Given the description of an element on the screen output the (x, y) to click on. 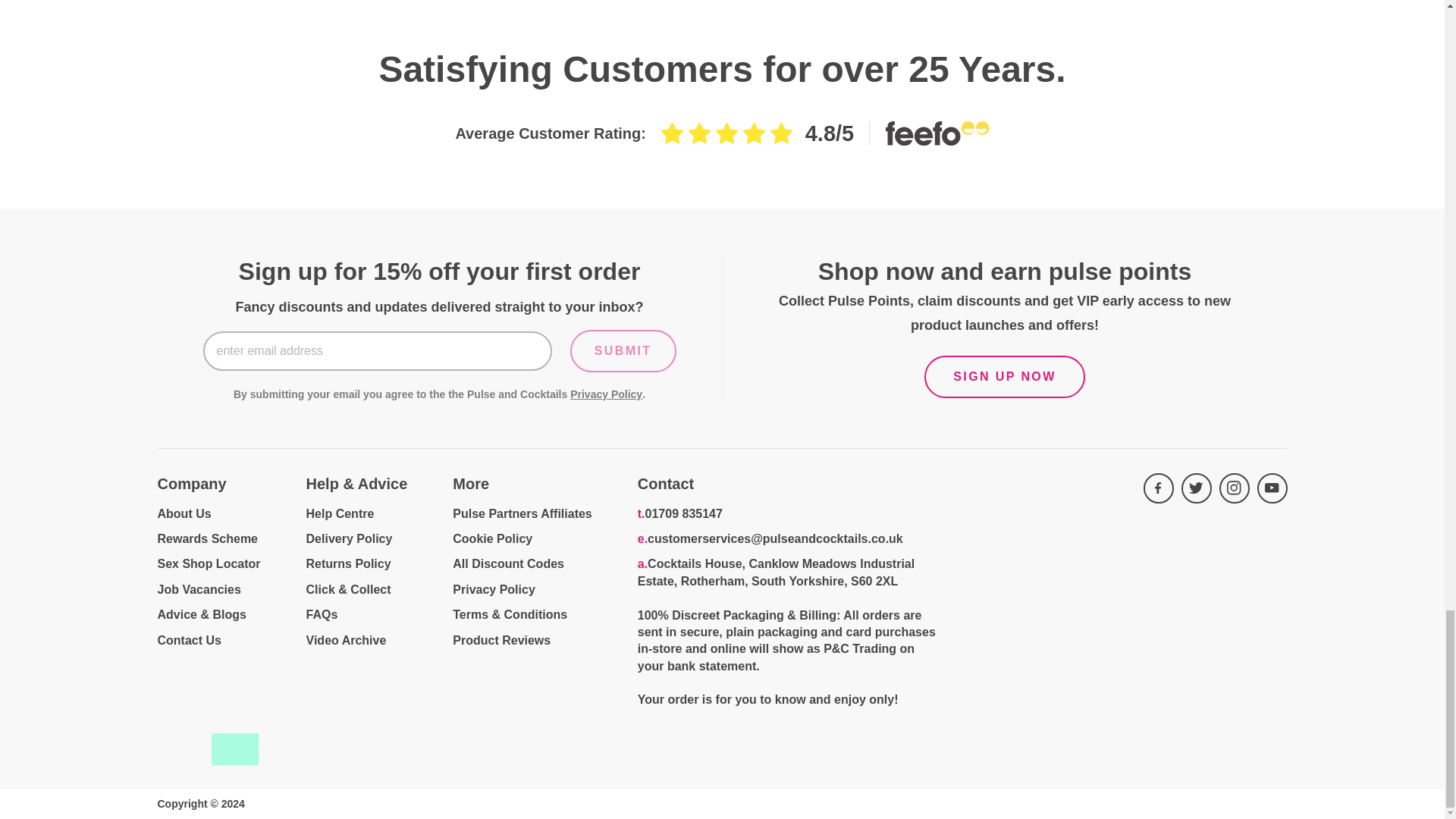
facebook (1157, 488)
instagram (1234, 488)
twitter (1195, 488)
youtube (1272, 488)
